Given the description of an element on the screen output the (x, y) to click on. 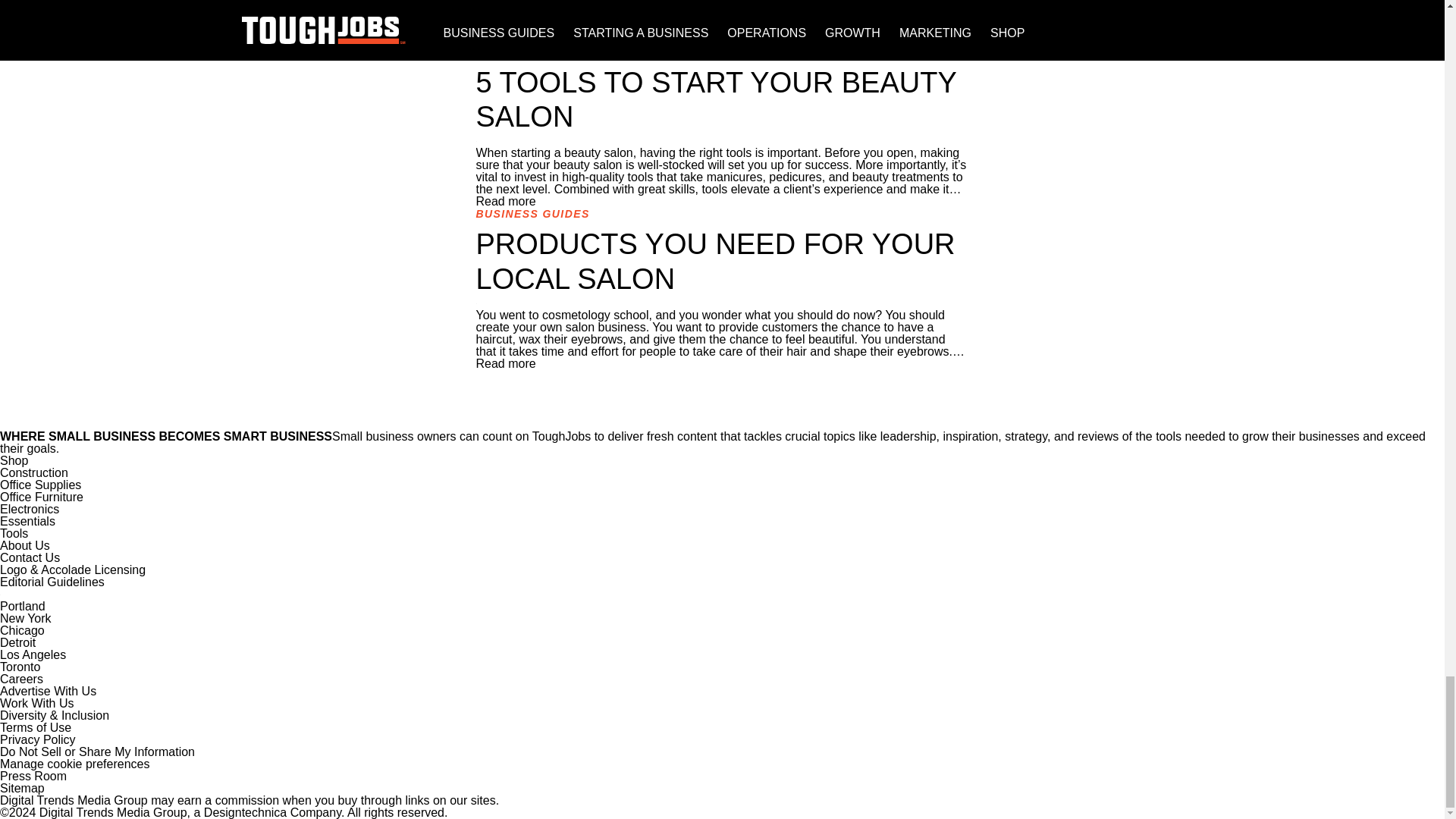
STARTING A BUSINESS (545, 51)
Read more (505, 38)
Read more (505, 201)
